Given the description of an element on the screen output the (x, y) to click on. 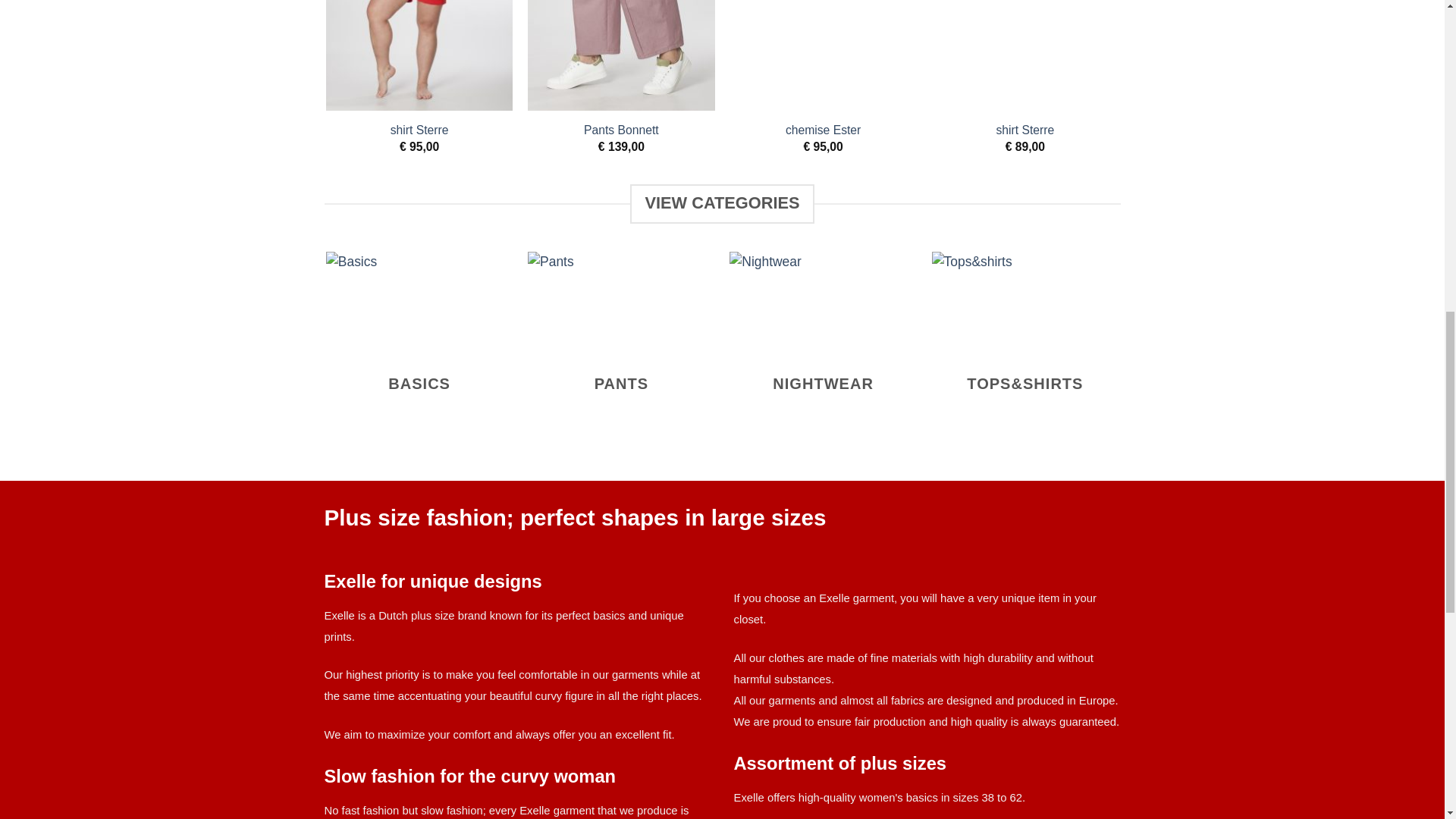
Pants Bonnett (621, 130)
chemise Ester (823, 130)
shirt Sterre (419, 130)
